Given the description of an element on the screen output the (x, y) to click on. 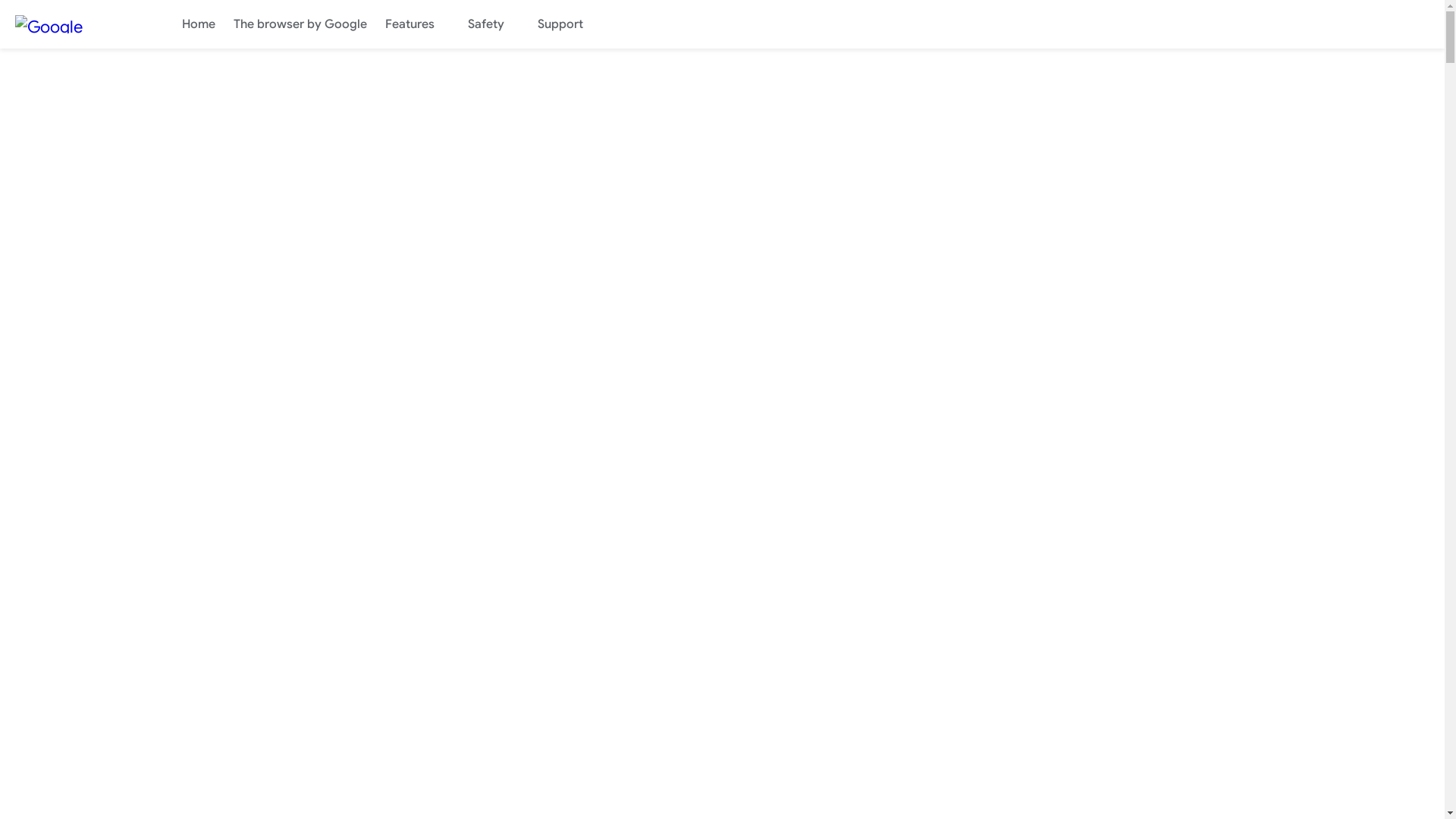
The browser by Google Element type: text (300, 23)
Home Element type: text (198, 23)
Safety Element type: text (493, 23)
Features Element type: text (417, 23)
Support Element type: text (567, 23)
Google Chrome Element type: hover (75, 24)
